Given the description of an element on the screen output the (x, y) to click on. 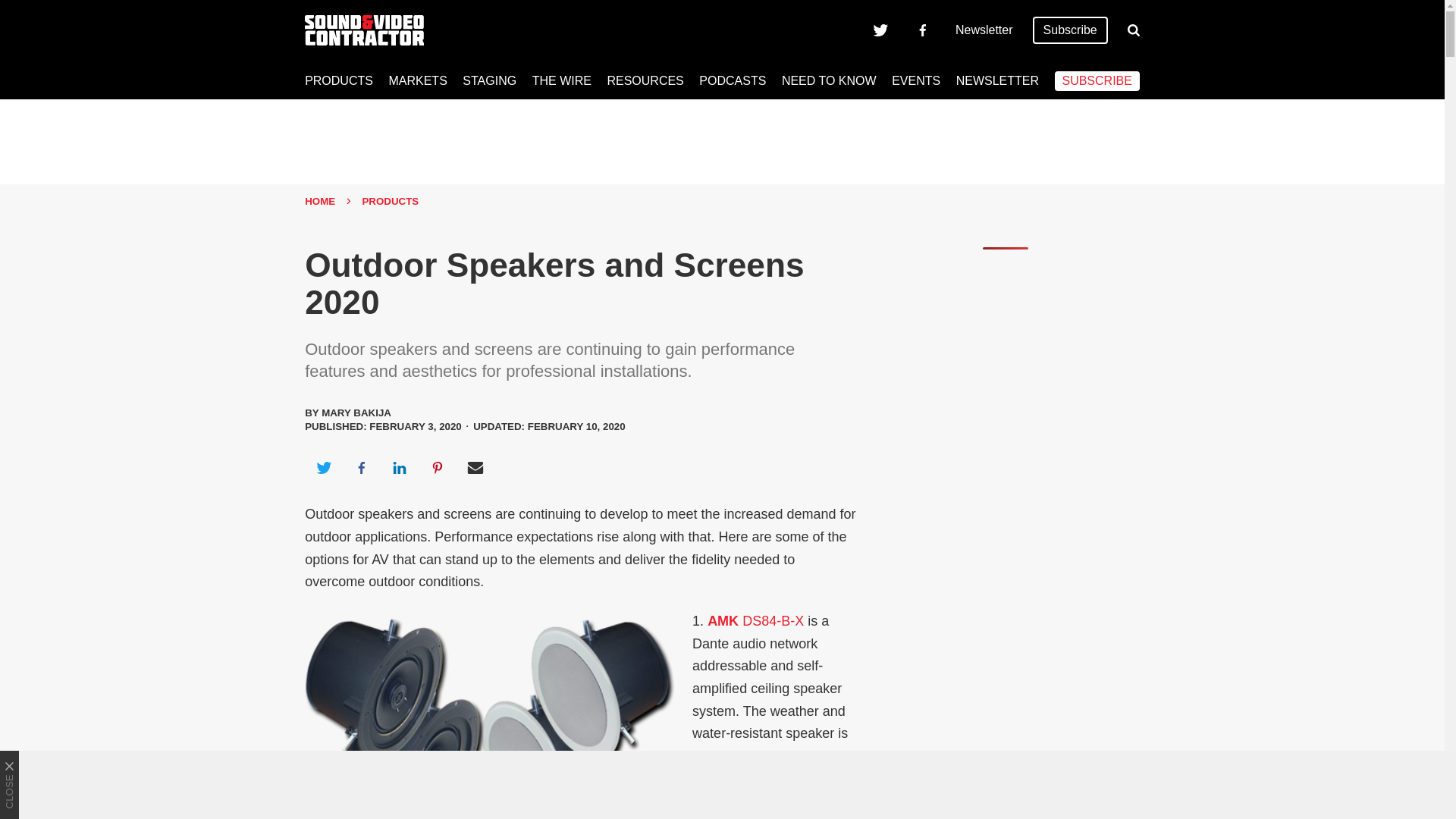
Share on Facebook (361, 467)
Share on LinkedIn (399, 467)
Share via Email (476, 467)
Share on Twitter (323, 467)
Share on Pinterest (438, 467)
